Given the description of an element on the screen output the (x, y) to click on. 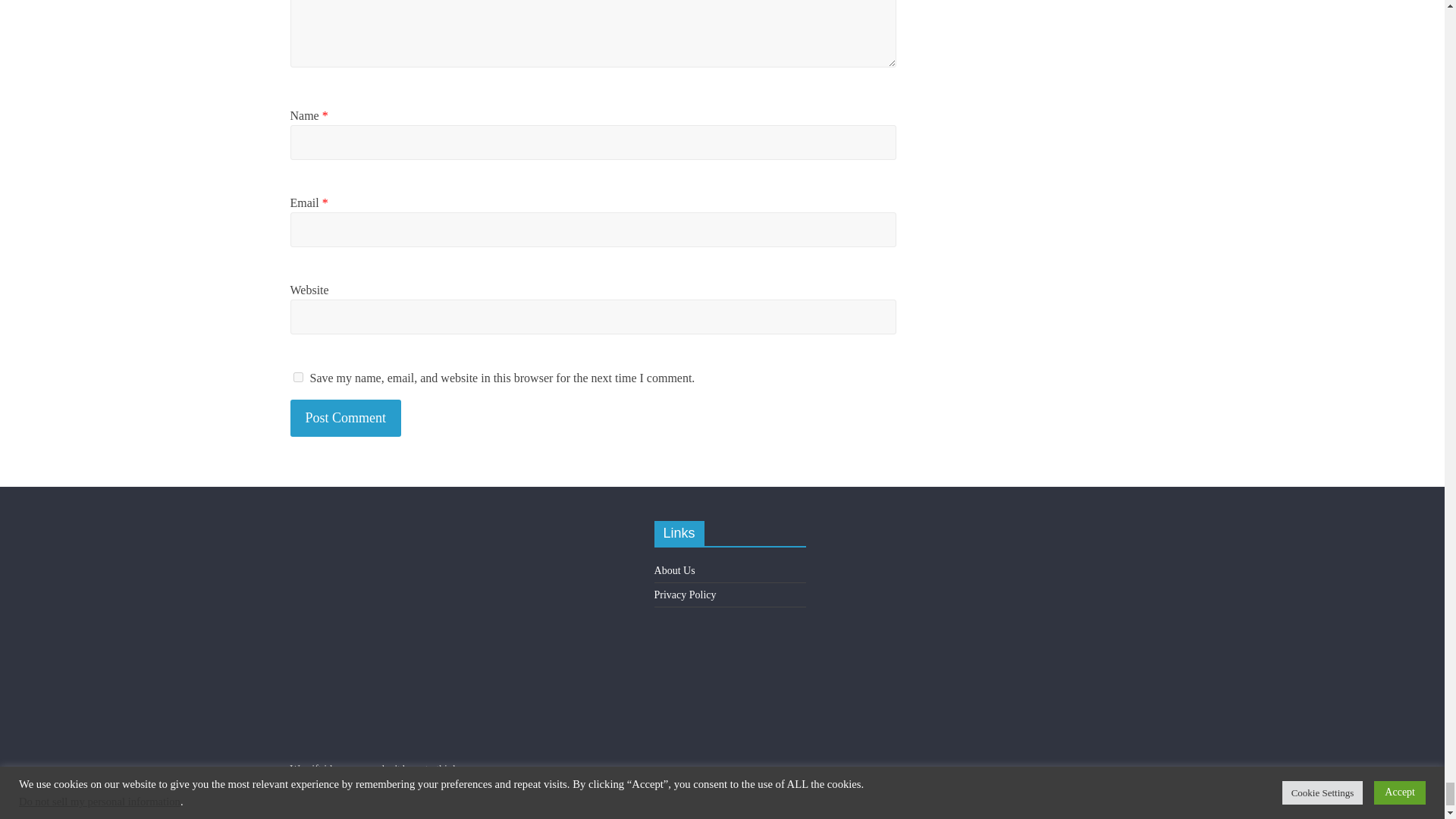
Post Comment (345, 417)
yes (297, 377)
